Given the description of an element on the screen output the (x, y) to click on. 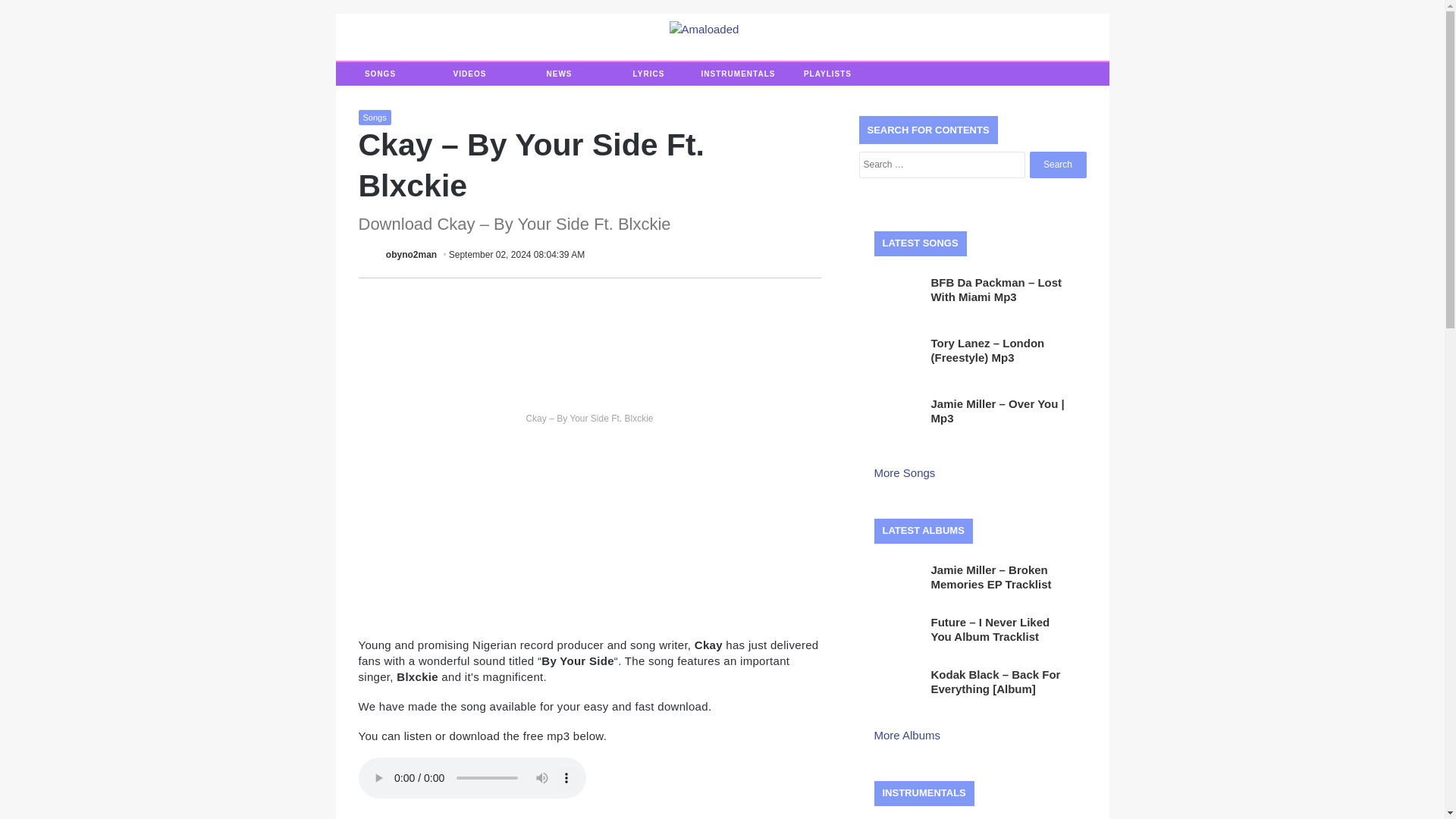
Search (1057, 164)
VIDEOS (469, 73)
Songs (374, 117)
Search (1057, 164)
Posts by obyno2man (410, 254)
SONGS (379, 73)
obyno2man (410, 254)
Search (1057, 164)
NEWS (558, 73)
PLAYLISTS (827, 73)
